Given the description of an element on the screen output the (x, y) to click on. 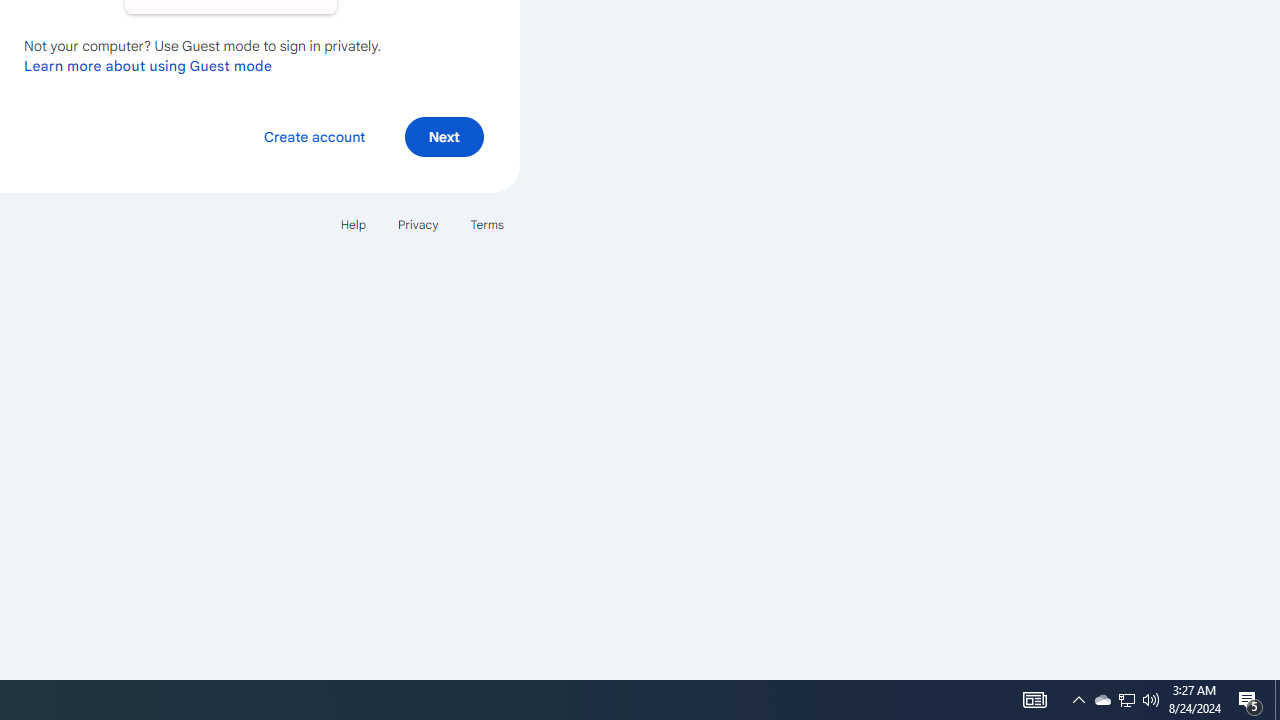
Next (443, 135)
Create account (314, 135)
Learn more about using Guest mode (148, 65)
